Given the description of an element on the screen output the (x, y) to click on. 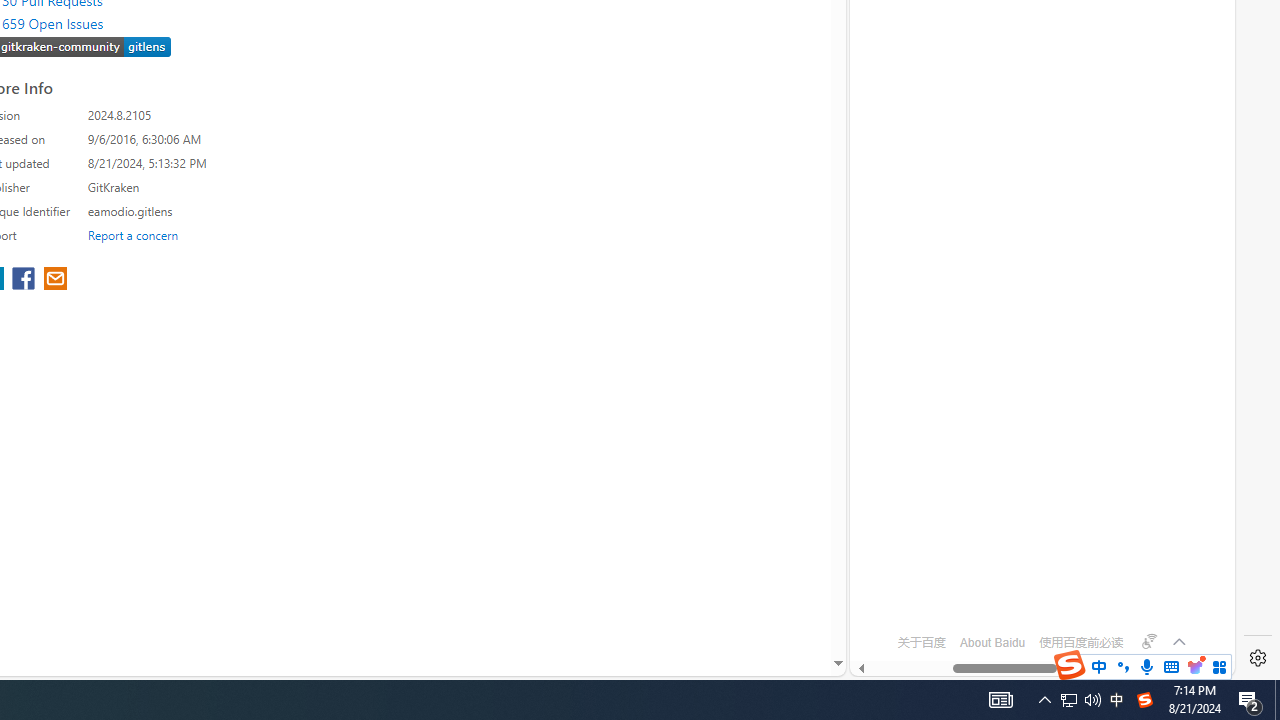
Report a concern (133, 234)
